Given the description of an element on the screen output the (x, y) to click on. 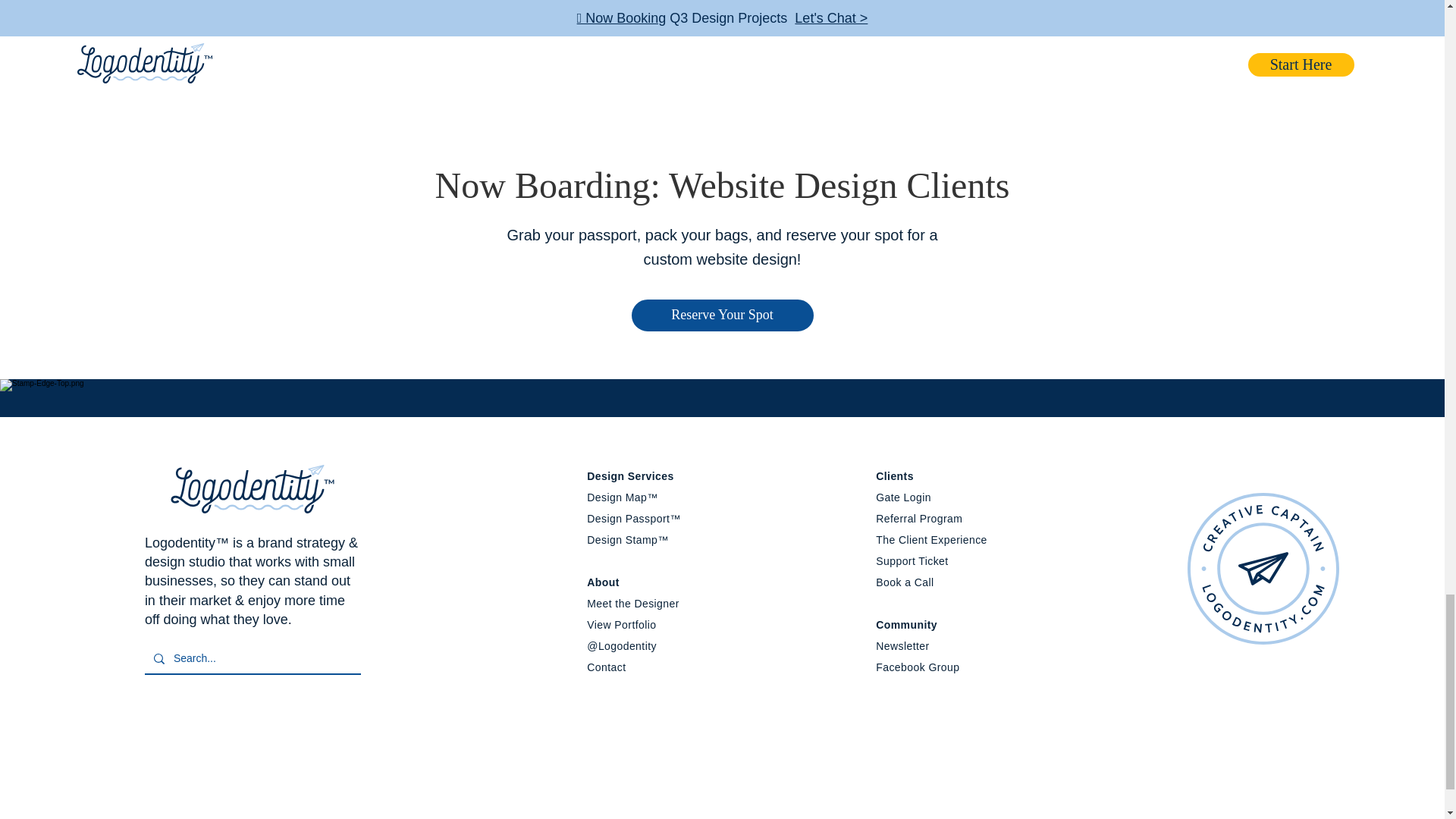
Referral Program (919, 518)
Gate Login (903, 497)
Book a Call (904, 582)
About (603, 582)
Facebook Group (917, 666)
Contact (606, 666)
Support Ticket (911, 561)
The Client Experience (931, 539)
Meet the Designer (632, 603)
Reserve Your Spot (721, 315)
Newsletter (902, 645)
Design Services (629, 476)
View Portfolio (621, 624)
